Given the description of an element on the screen output the (x, y) to click on. 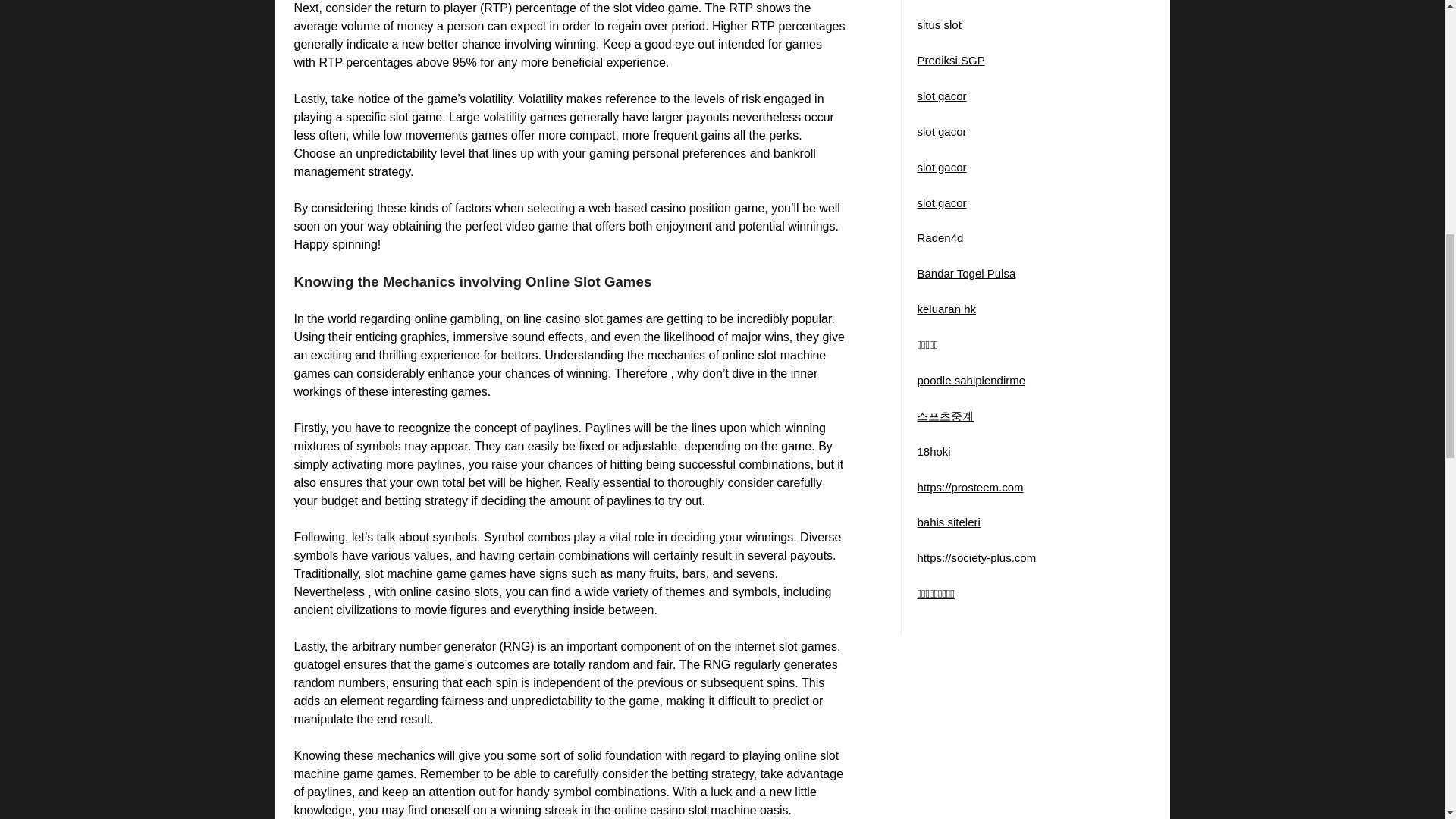
slot gacor (941, 166)
18hoki (933, 451)
slot gacor (941, 201)
situs slot (938, 24)
Prediksi SGP (950, 60)
Raden4d (939, 237)
slot gacor (941, 95)
poodle sahiplendirme (971, 379)
guatogel (317, 664)
keluaran hk (946, 308)
slot gacor (941, 131)
Bandar Togel Pulsa (965, 273)
